Given the description of an element on the screen output the (x, y) to click on. 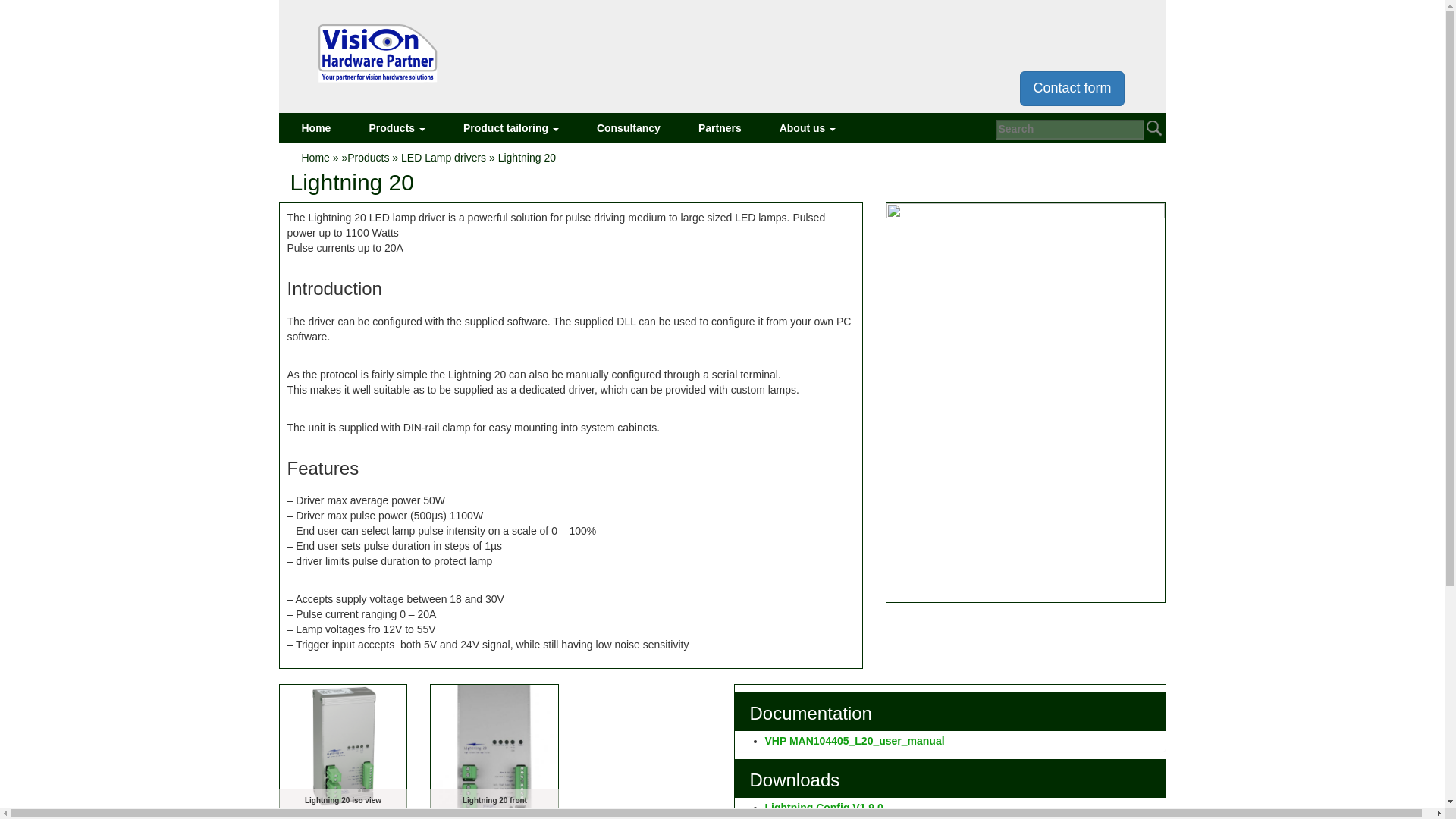
Home (315, 128)
Products (396, 128)
Products (396, 128)
Contact form (1072, 88)
Home (315, 128)
Product tailoring (510, 128)
